Given the description of an element on the screen output the (x, y) to click on. 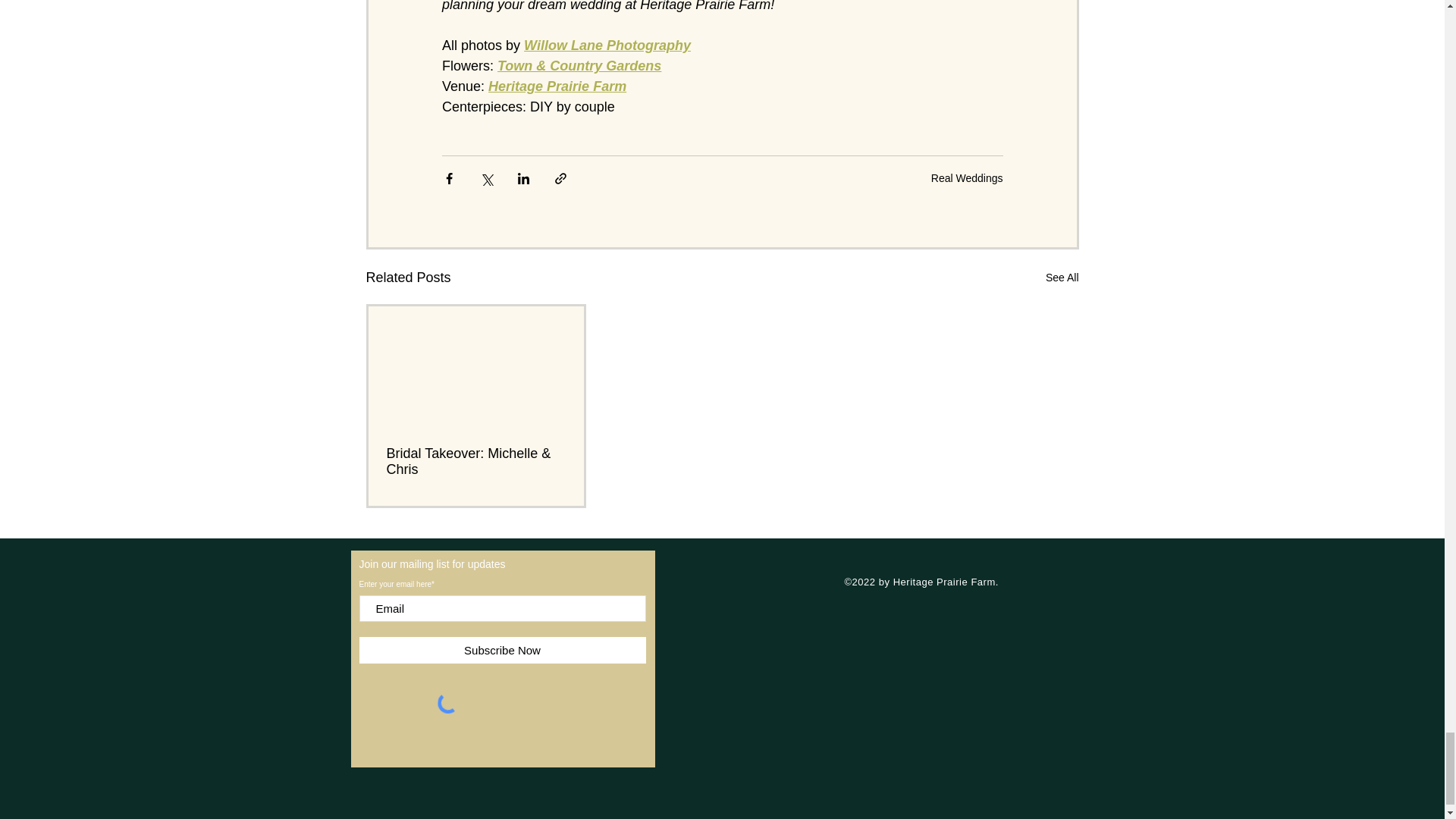
Willow Lane Photography (607, 45)
Heritage Prairie Farm (556, 86)
See All (1061, 277)
Real Weddings (967, 177)
